Given the description of an element on the screen output the (x, y) to click on. 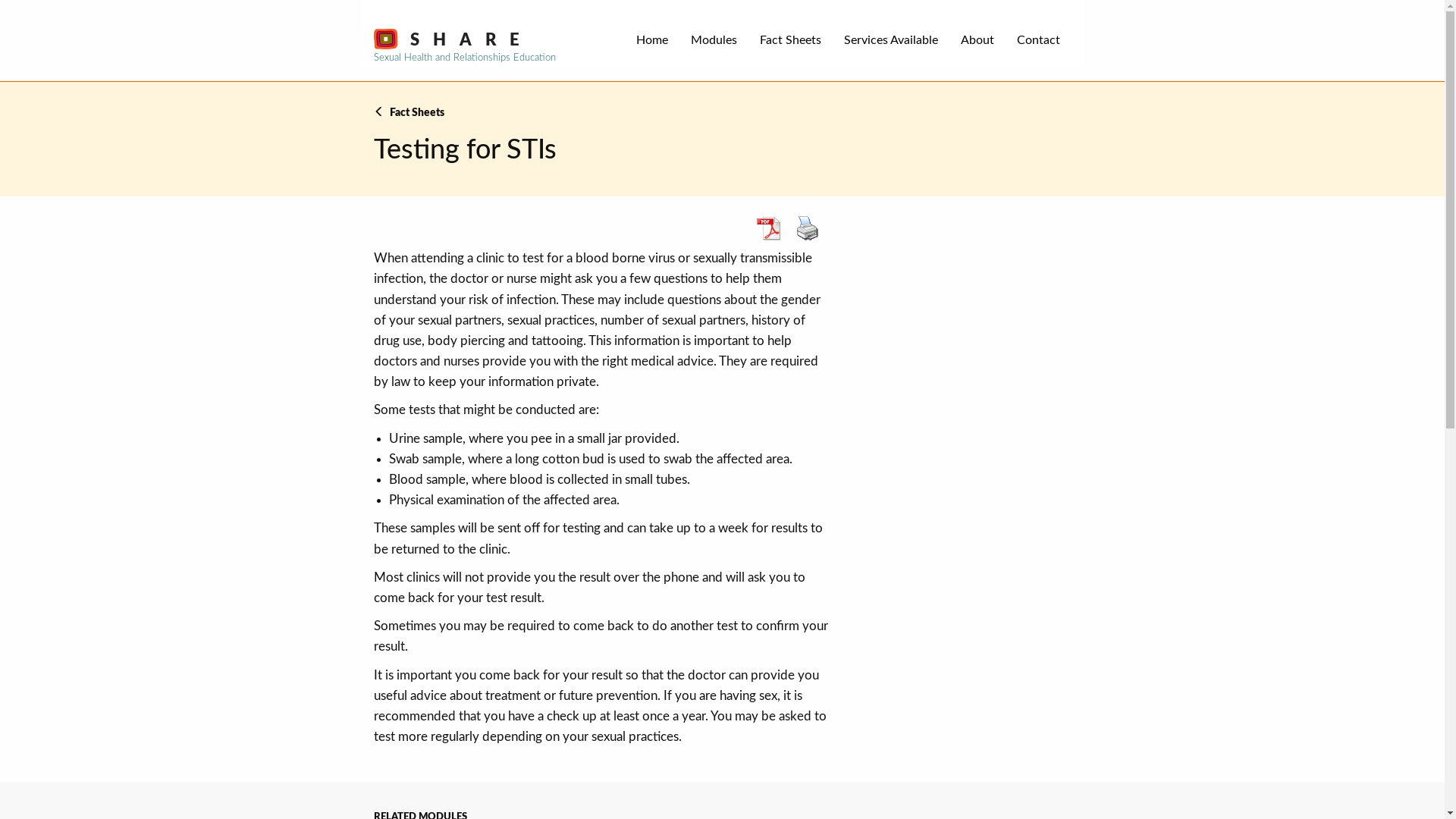
Home Element type: text (651, 40)
Modules Element type: text (713, 40)
Services Available Element type: text (890, 40)
View PDF Element type: hover (768, 228)
SHARE Element type: text (453, 40)
Contact Element type: text (1038, 40)
Print Content Element type: hover (807, 228)
Fact Sheets Element type: text (789, 40)
Fact Sheets Element type: text (408, 112)
About Element type: text (977, 40)
